Given the description of an element on the screen output the (x, y) to click on. 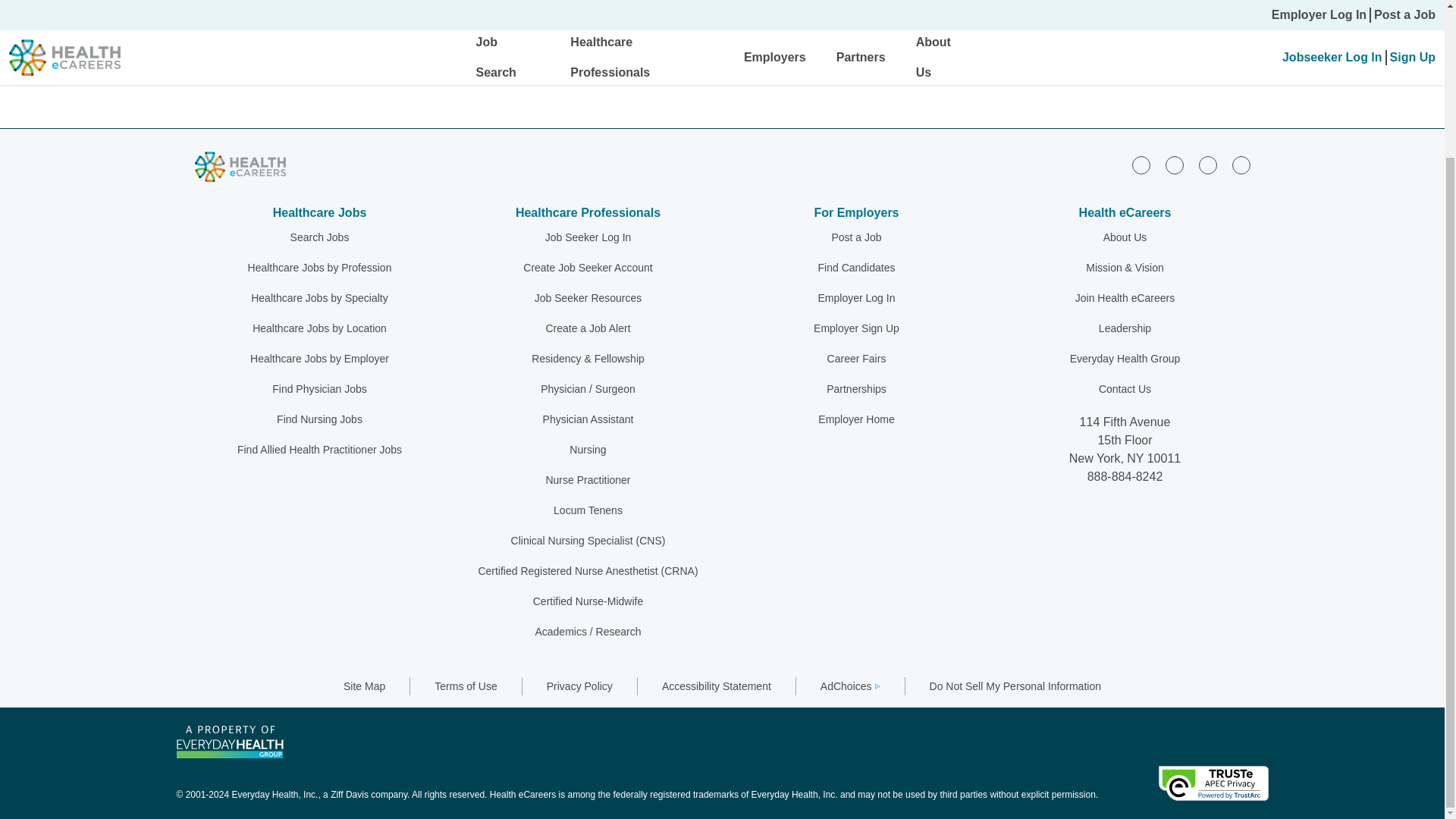
youtube (1240, 165)
facebook (1173, 165)
twitter (1206, 165)
linkedin (1140, 165)
